Given the description of an element on the screen output the (x, y) to click on. 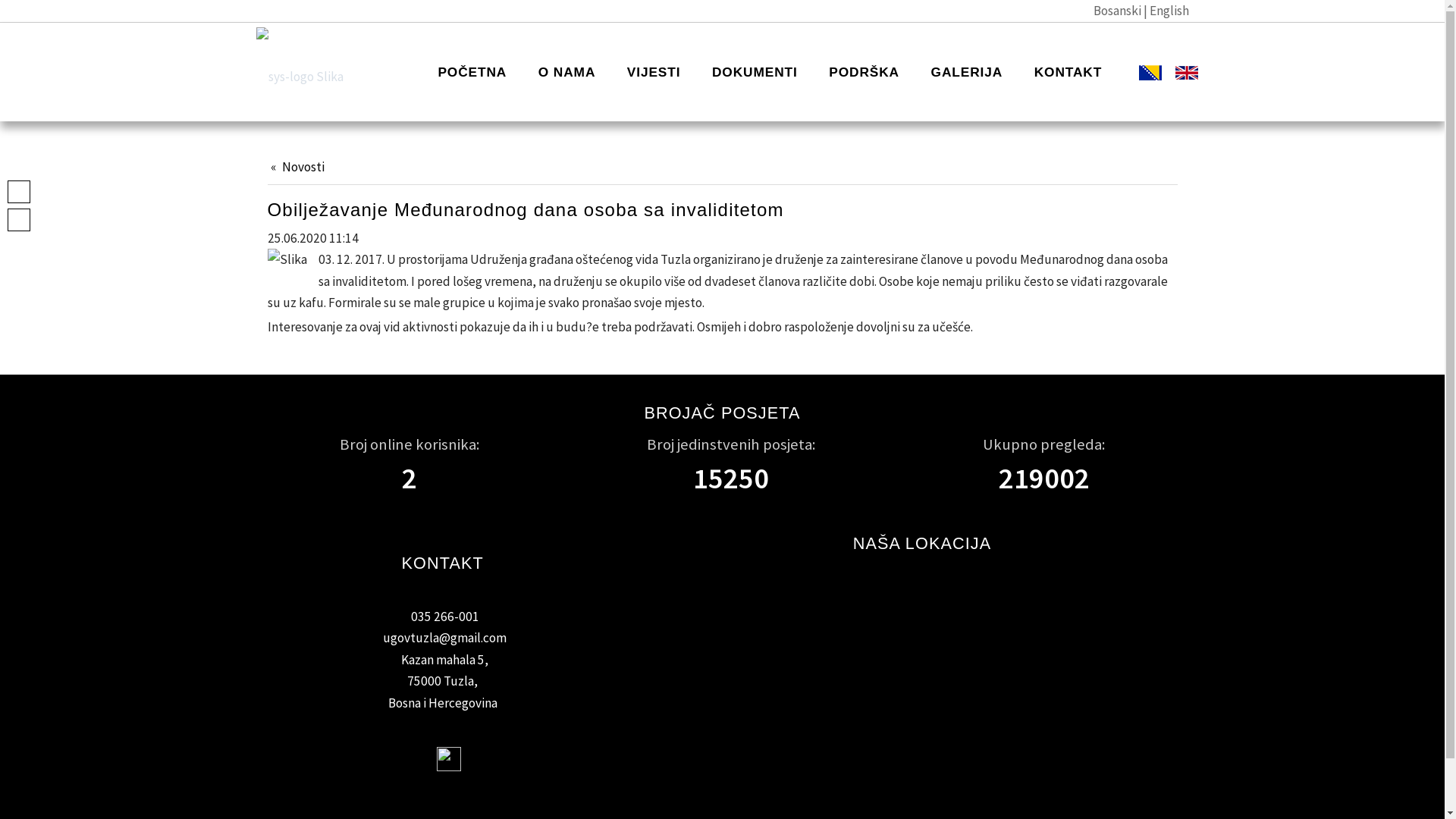
DOKUMENTI Element type: text (754, 72)
English Element type: text (1169, 10)
Novosti Element type: text (296, 166)
KONTAKT Element type: text (1067, 72)
GALERIJA Element type: text (966, 72)
O NAMA Element type: text (566, 72)
ENGLESKI Element type: text (1173, 74)
BOSANSKI Element type: text (1135, 74)
VIJESTI Element type: text (653, 72)
